Given the description of an element on the screen output the (x, y) to click on. 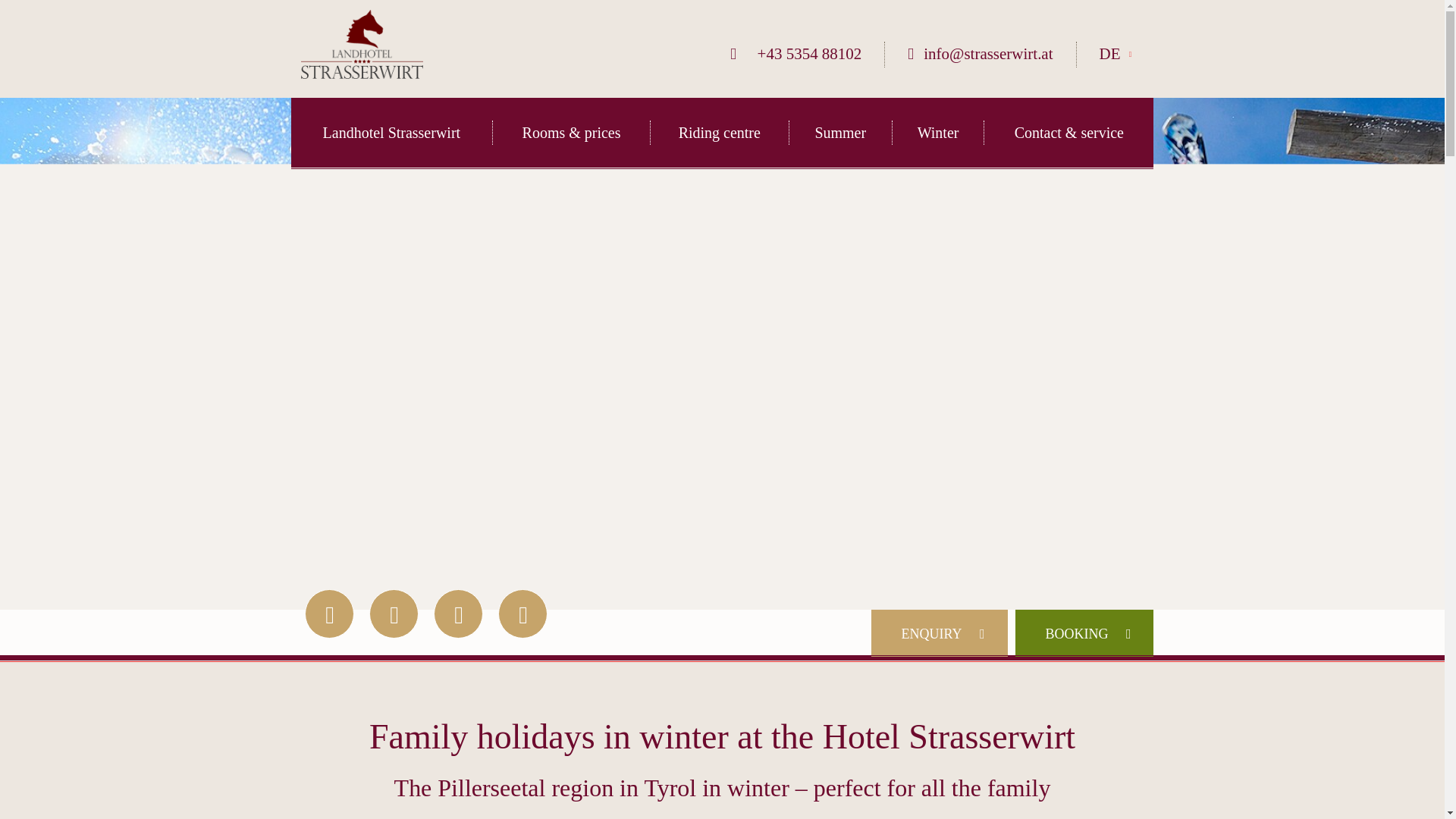
Riding centre (719, 132)
Summer (840, 132)
Riding centre (719, 132)
Landhotel Strasserwirt (392, 132)
Landhotel Strasserwirt (392, 132)
Winter in the Pillerseetal region (937, 132)
Summer in the Pillerseetal region (840, 132)
